Given the description of an element on the screen output the (x, y) to click on. 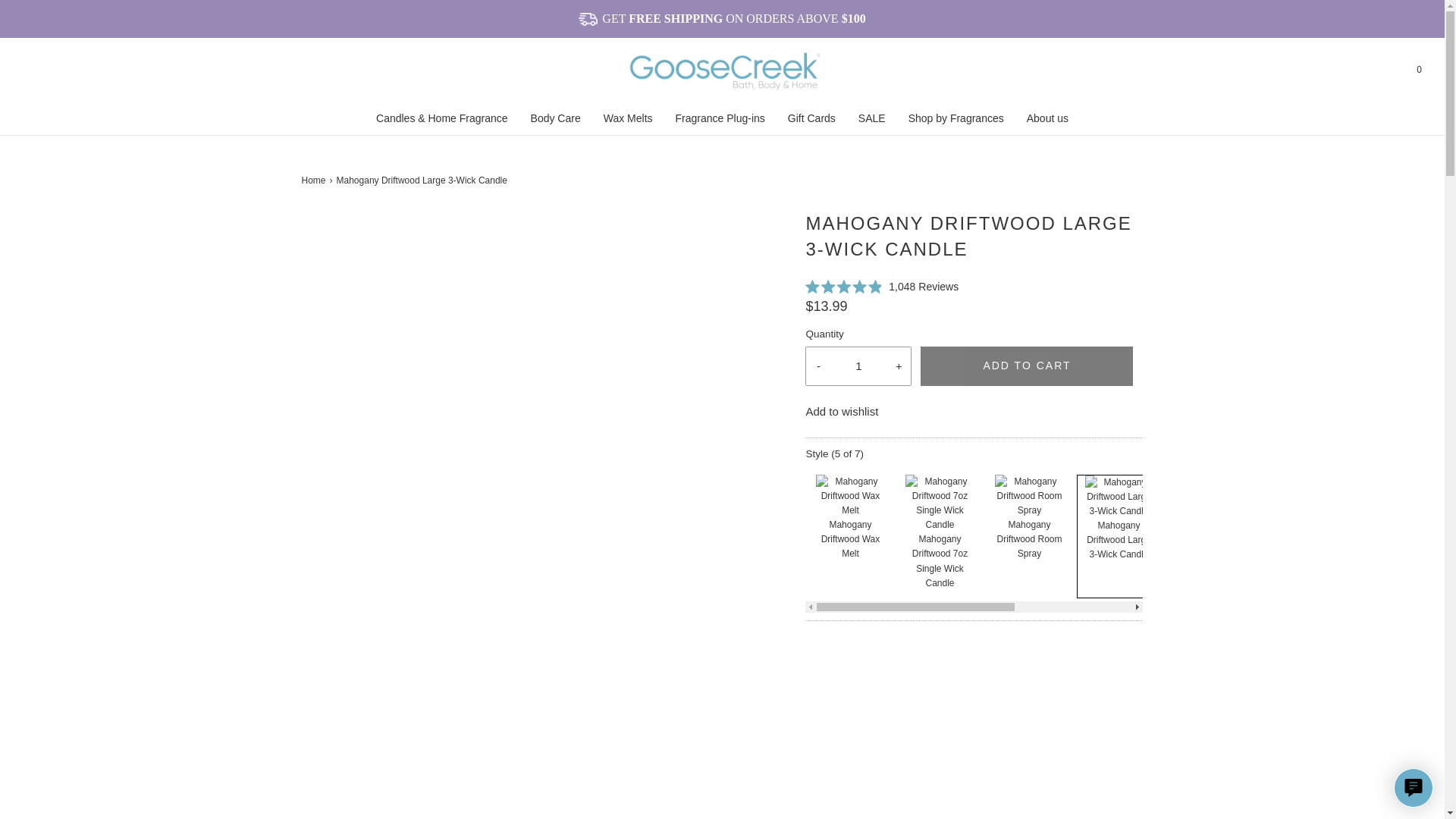
Mahogany Driftwood Room Spray (1028, 538)
Mahogany Driftwood 7oz Single Wick Candle (939, 502)
Mahogany Driftwood Wax Melt (850, 538)
Mahogany Driftwood 7oz Single Wick Candle (940, 560)
Mahogany Driftwood Room Spray (1028, 494)
Mahogany Driftwood Wax Melt (849, 494)
Back to the frontpage (315, 180)
Mahogany Driftwood Large 3-Wick Candle (1118, 539)
Mahogany Driftwood Large 3-Wick Candle (1117, 495)
Mahogany Driftwood Plug-in Refill (1207, 494)
